Given the description of an element on the screen output the (x, y) to click on. 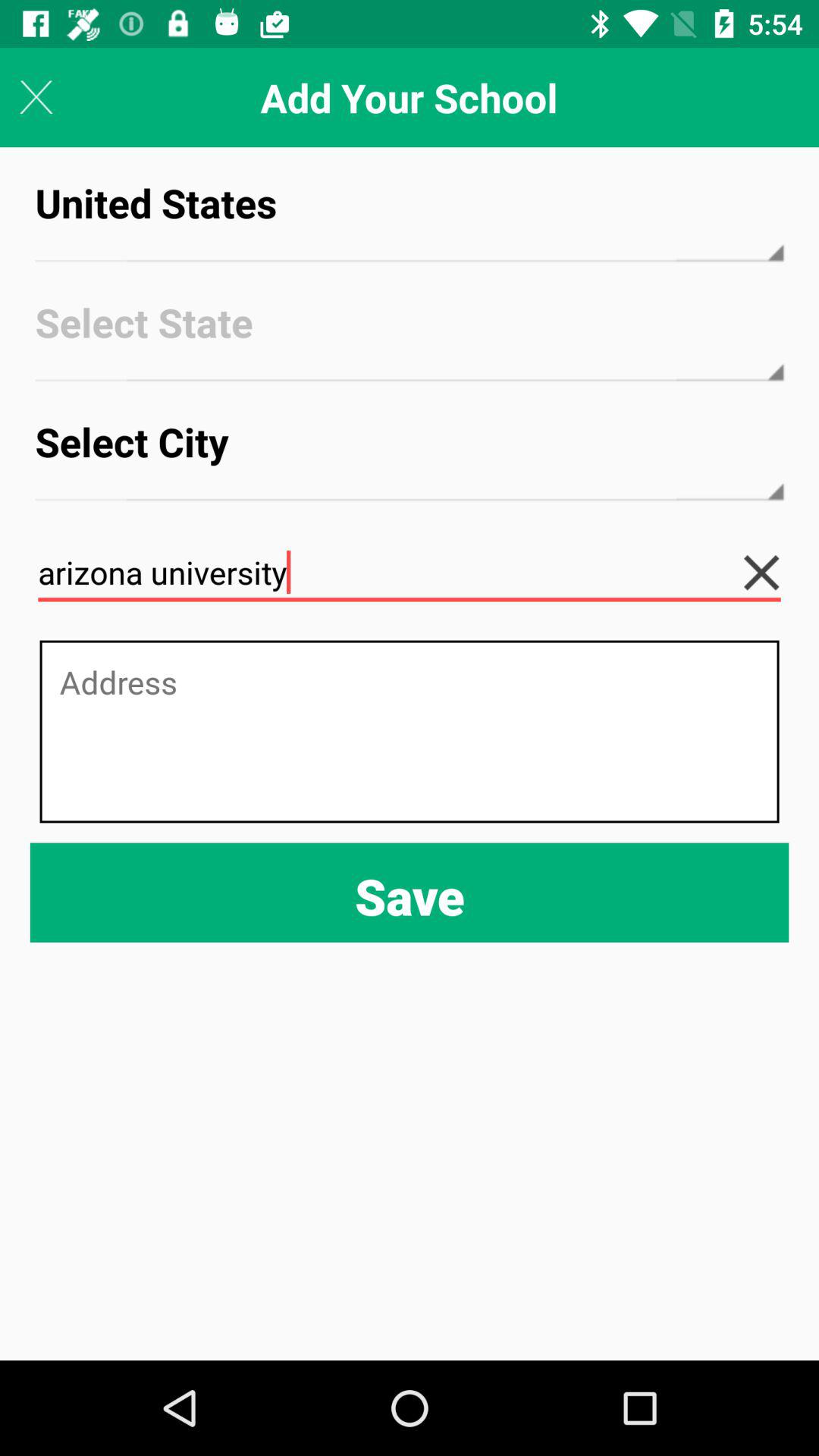
scroll to select state (409, 336)
